Given the description of an element on the screen output the (x, y) to click on. 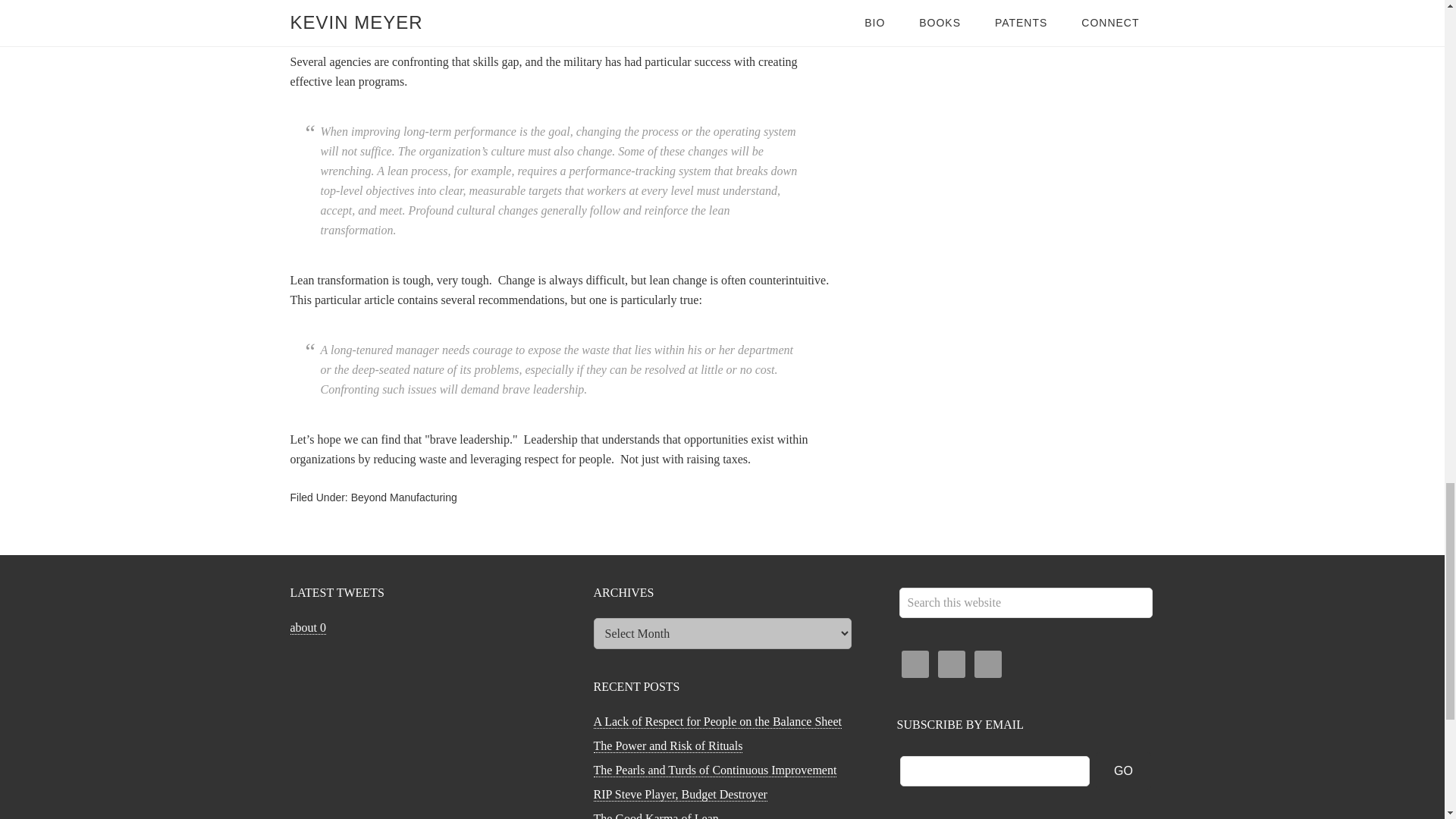
about 0 (307, 627)
The Power and Risk of Rituals (667, 745)
RIP Steve Player, Budget Destroyer (679, 794)
Go (1123, 771)
Beyond Manufacturing (403, 497)
A Lack of Respect for People on the Balance Sheet (716, 721)
The Good Karma of Lean (654, 815)
The Pearls and Turds of Continuous Improvement (713, 770)
